Given the description of an element on the screen output the (x, y) to click on. 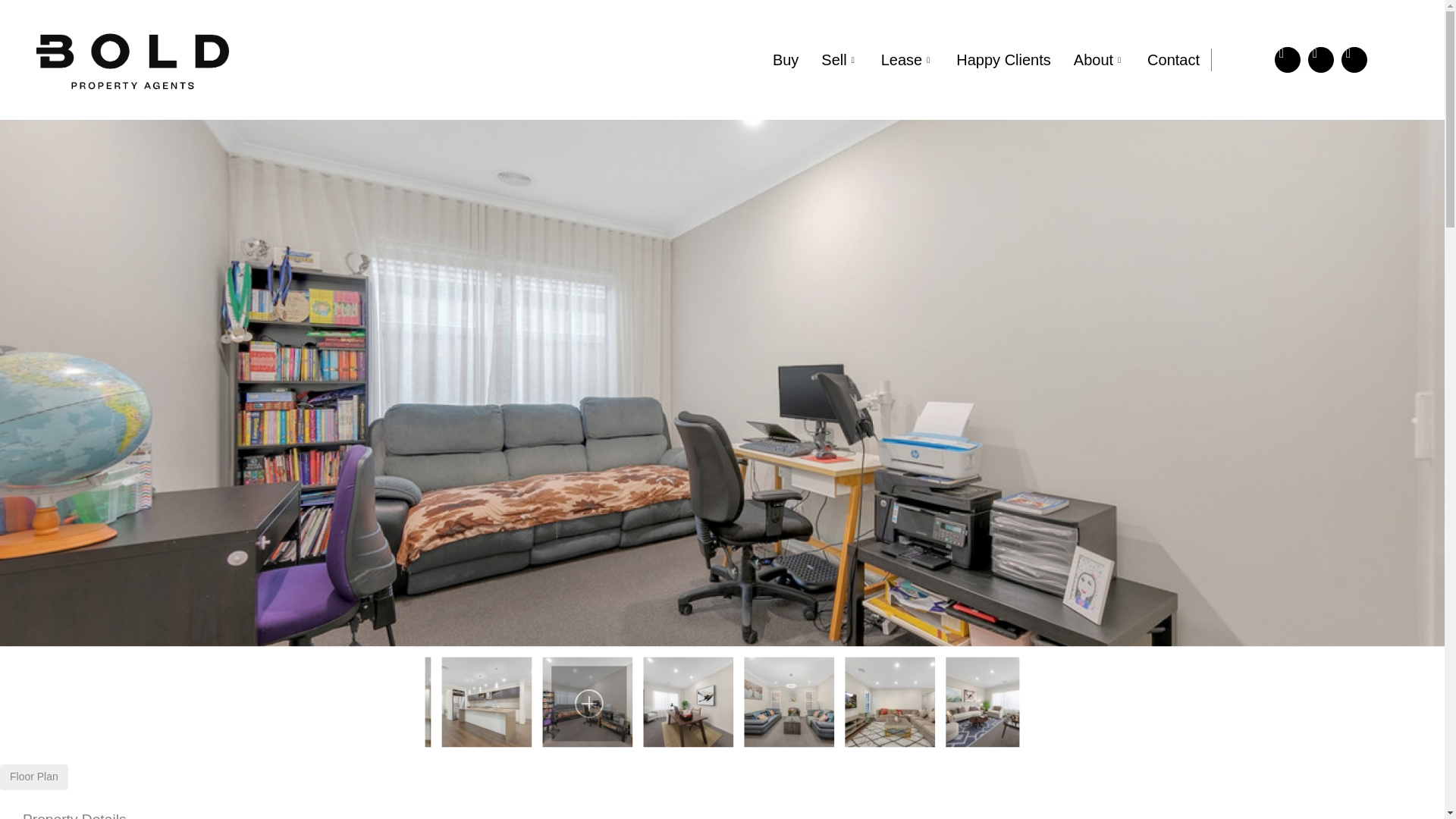
Happy Clients (1003, 59)
Floor Plan (34, 777)
Contact (1173, 59)
About (1098, 59)
Buy (785, 59)
Sell (839, 59)
Lease (906, 59)
